Given the description of an element on the screen output the (x, y) to click on. 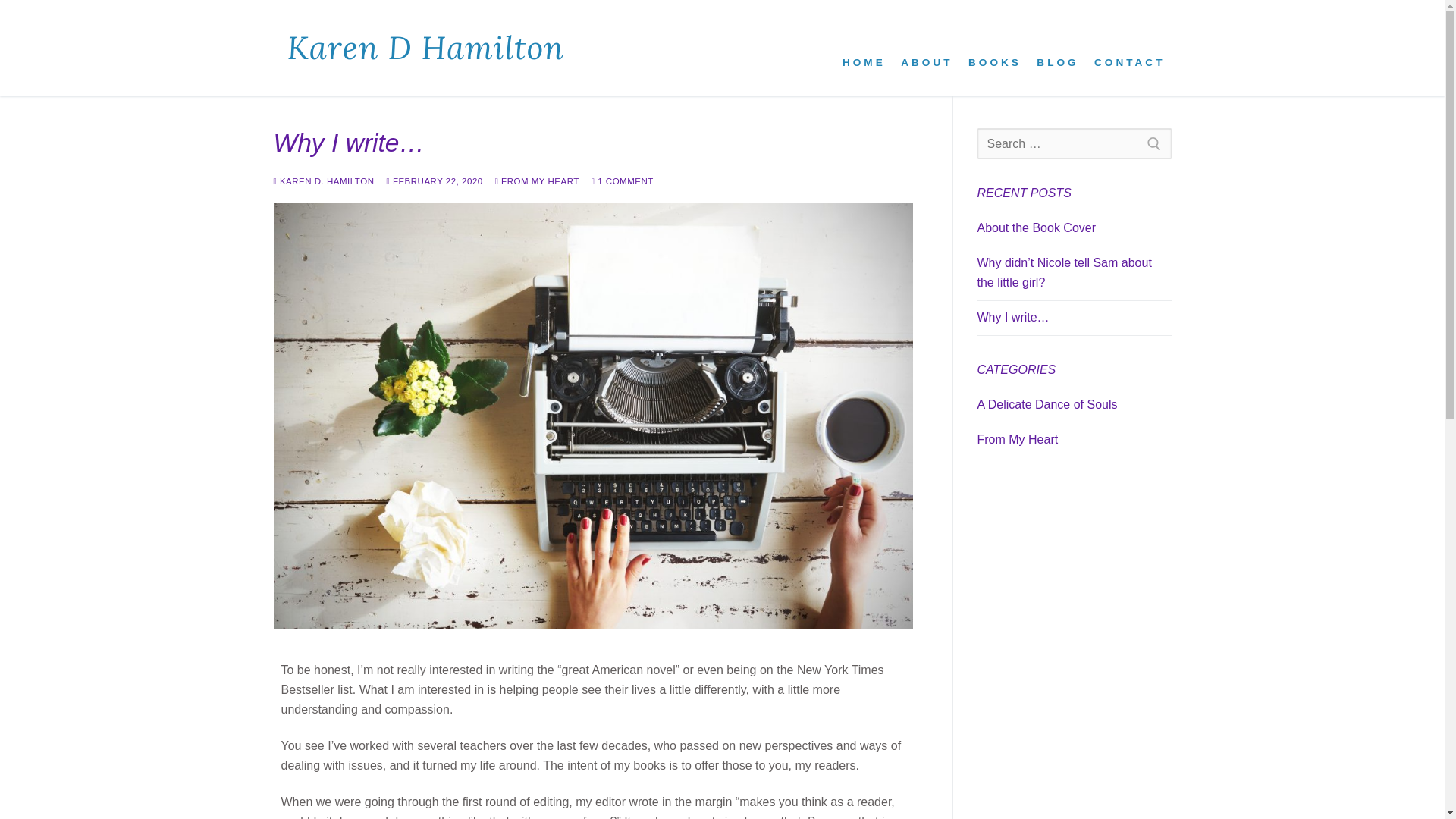
A Delicate Dance of Souls (1073, 408)
KAREN D. HAMILTON (323, 180)
FROM MY HEART (537, 180)
HOME (863, 48)
ABOUT (926, 48)
BLOG (1057, 48)
From My Heart (1073, 443)
FEBRUARY 22, 2020 (433, 180)
About the Book Cover (1073, 231)
CONTACT (1128, 48)
1 COMMENT (622, 180)
BOOKS (994, 48)
Search for: (1073, 143)
